Given the description of an element on the screen output the (x, y) to click on. 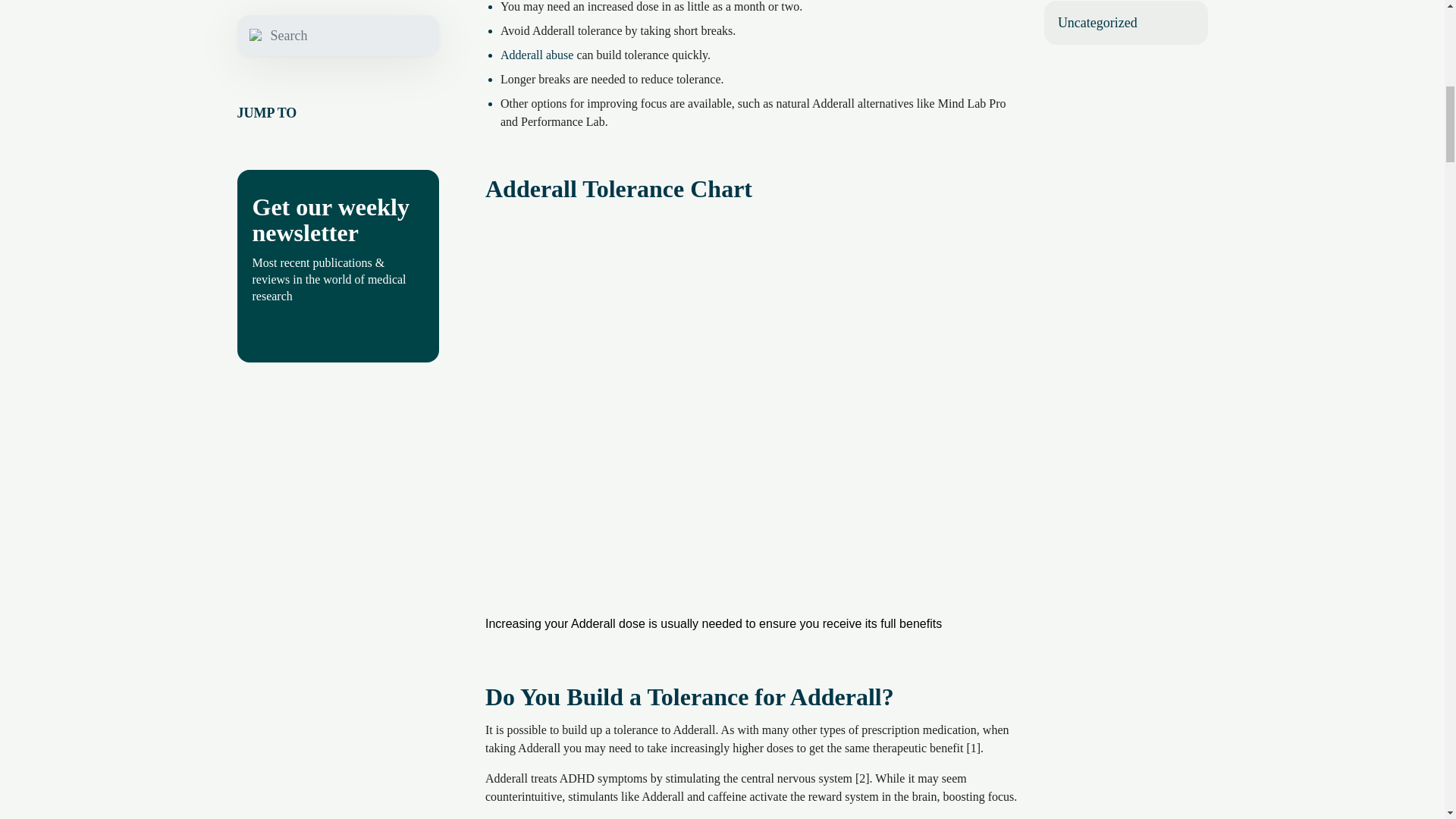
Adderall abuse (536, 54)
